Given the description of an element on the screen output the (x, y) to click on. 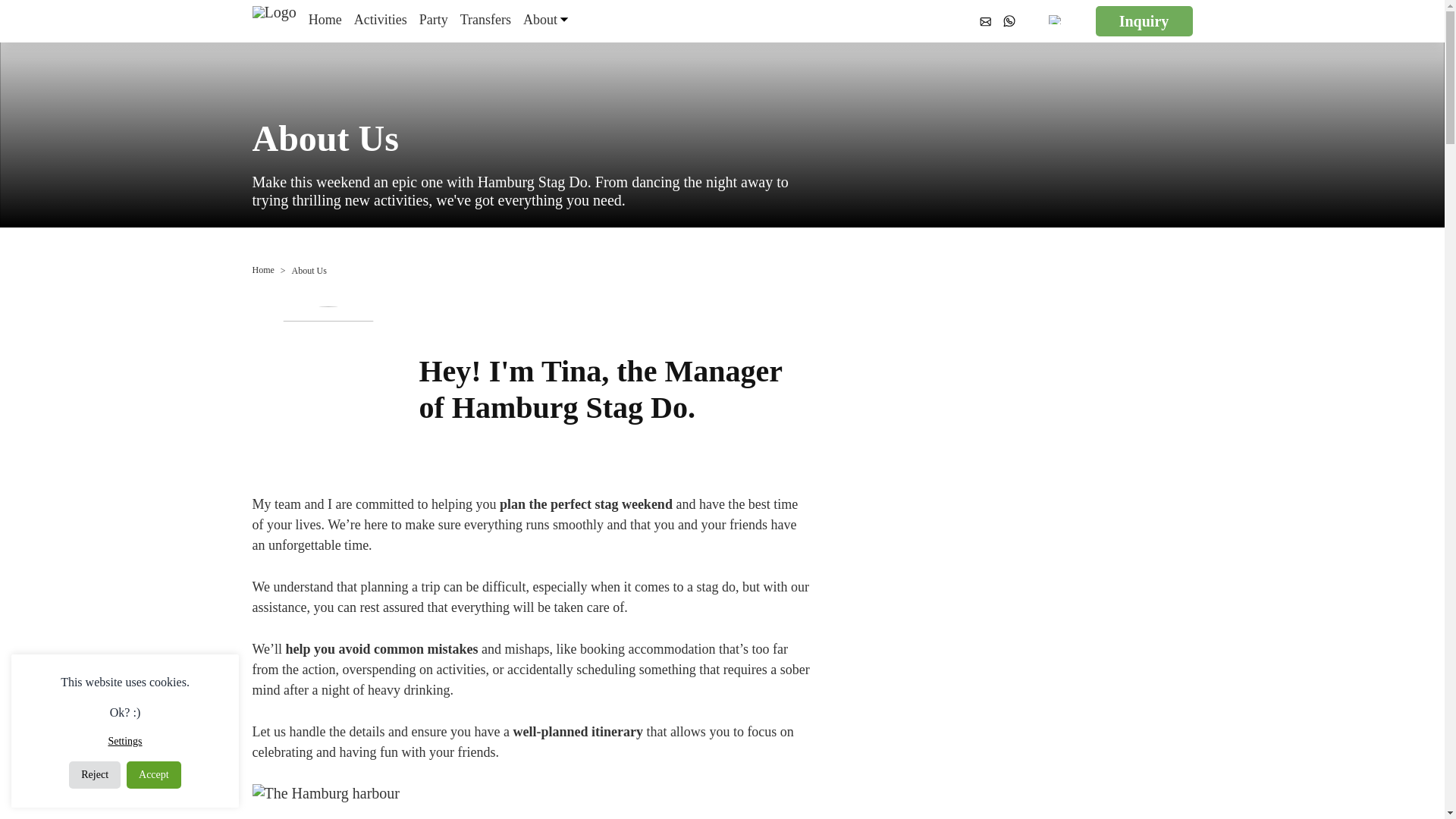
Inquiry (1143, 20)
Transfers (485, 21)
Activities (380, 21)
